Given the description of an element on the screen output the (x, y) to click on. 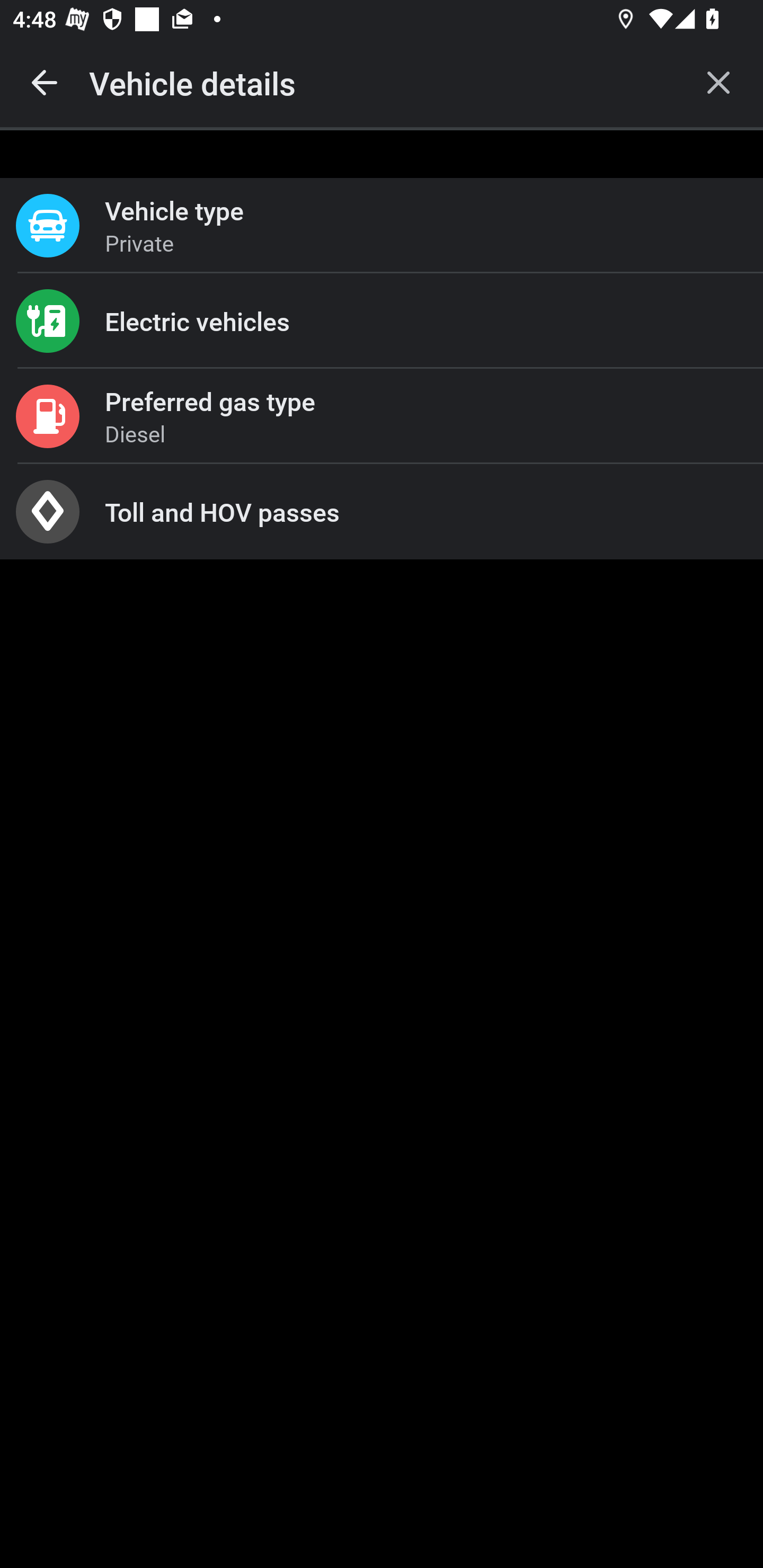
Vehicle type Private (381, 225)
Electric vehicles (381, 320)
Preferred gas type Diesel (381, 416)
Toll and HOV passes (381, 511)
